Given the description of an element on the screen output the (x, y) to click on. 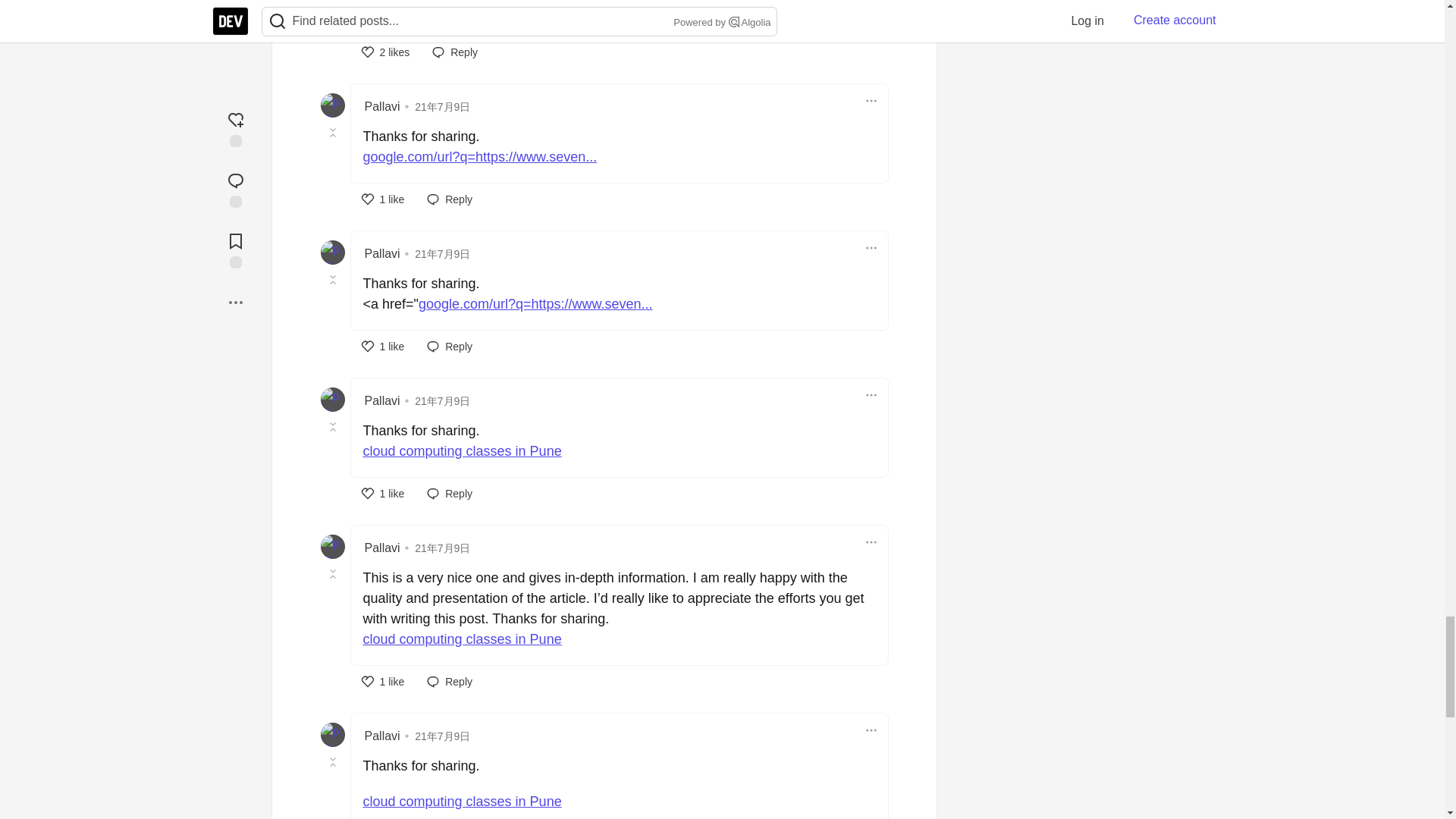
Dropdown menu (870, 248)
Dropdown menu (870, 394)
Dropdown menu (870, 100)
